Given the description of an element on the screen output the (x, y) to click on. 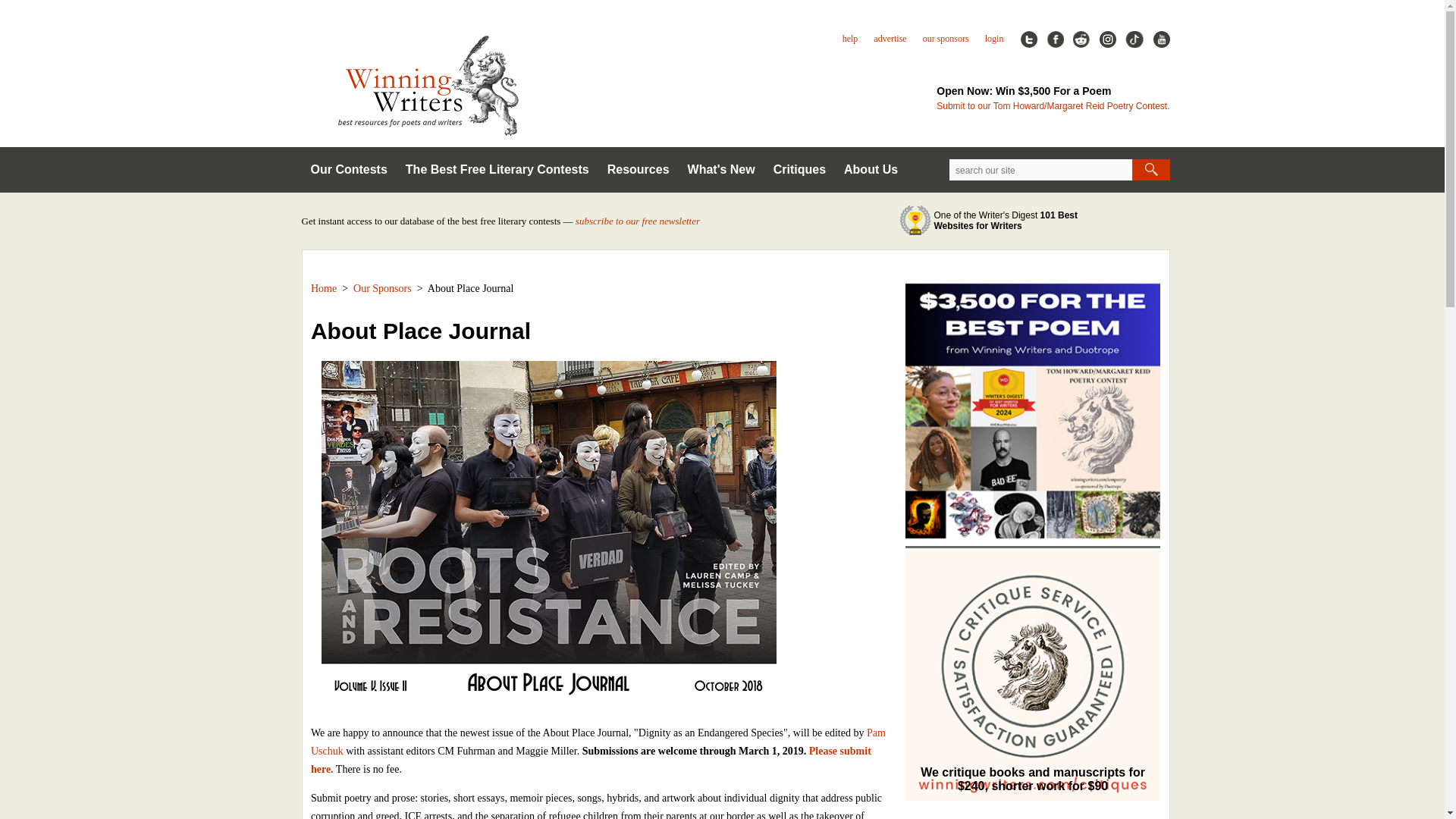
advertise (889, 38)
Our Contests (348, 169)
login (994, 38)
reddit (1081, 40)
instagram (1107, 40)
twitter (1028, 40)
youtube (1161, 40)
facebook (1055, 40)
search (1150, 169)
our sponsors (946, 38)
tiktok (1133, 40)
search (1150, 169)
